Given the description of an element on the screen output the (x, y) to click on. 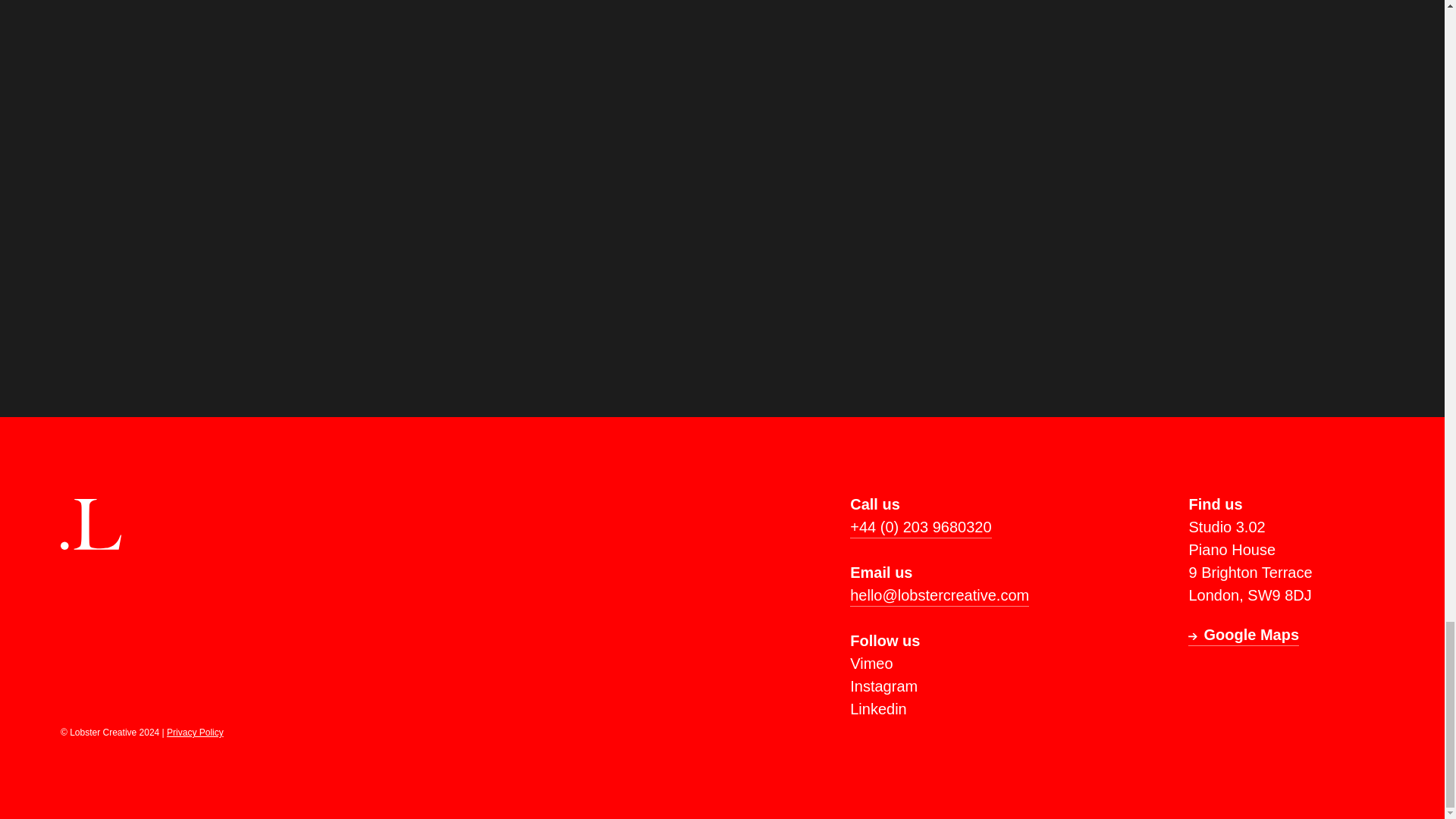
Privacy Policy (195, 732)
Linkedin (878, 708)
Vimeo (871, 662)
Google Maps (1243, 634)
Instagram (883, 685)
